Given the description of an element on the screen output the (x, y) to click on. 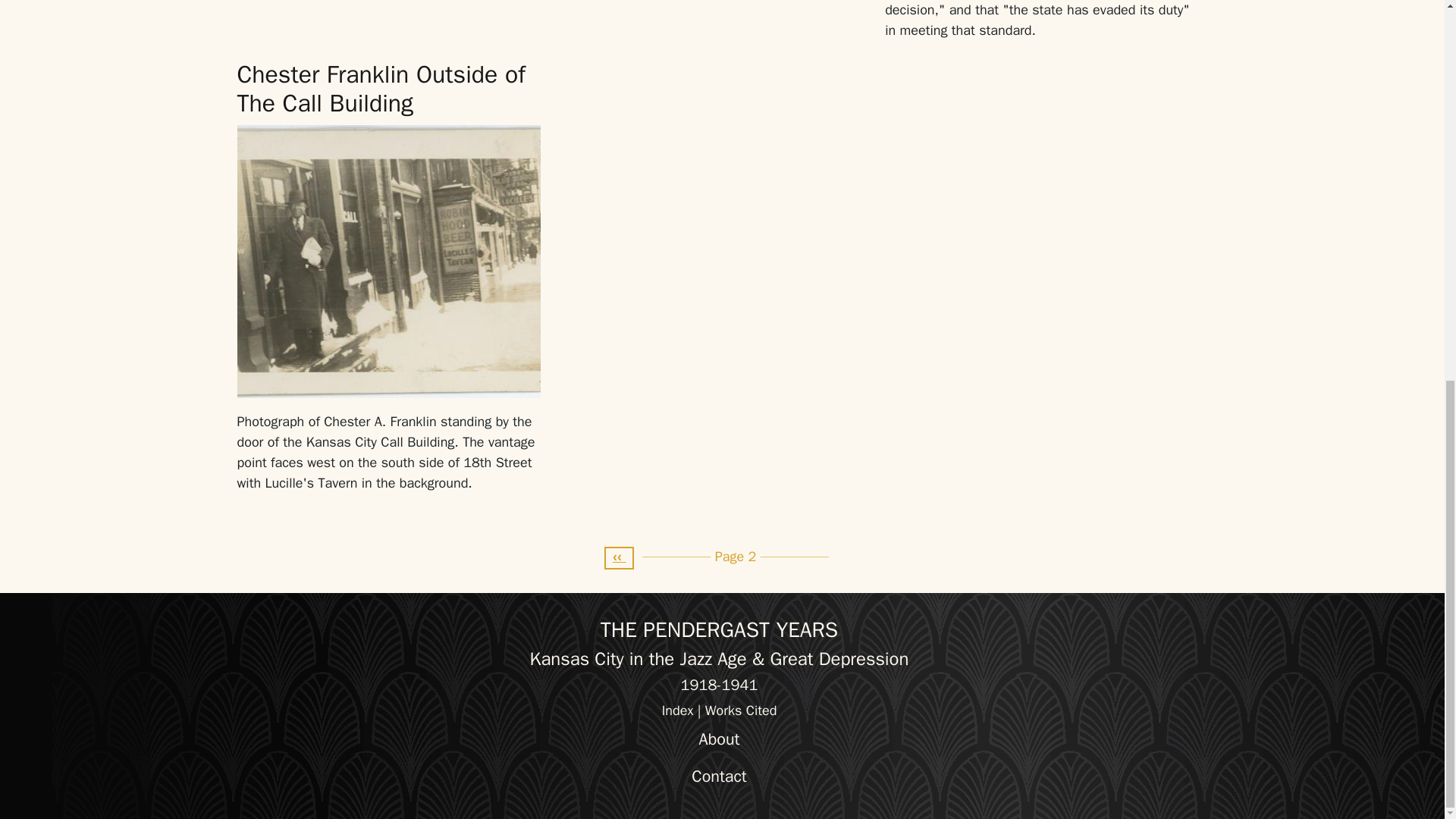
Chester Franklin Outside of The Call Building (379, 88)
Index (678, 710)
Contact (718, 776)
Works Cited (740, 710)
About (718, 739)
